Given the description of an element on the screen output the (x, y) to click on. 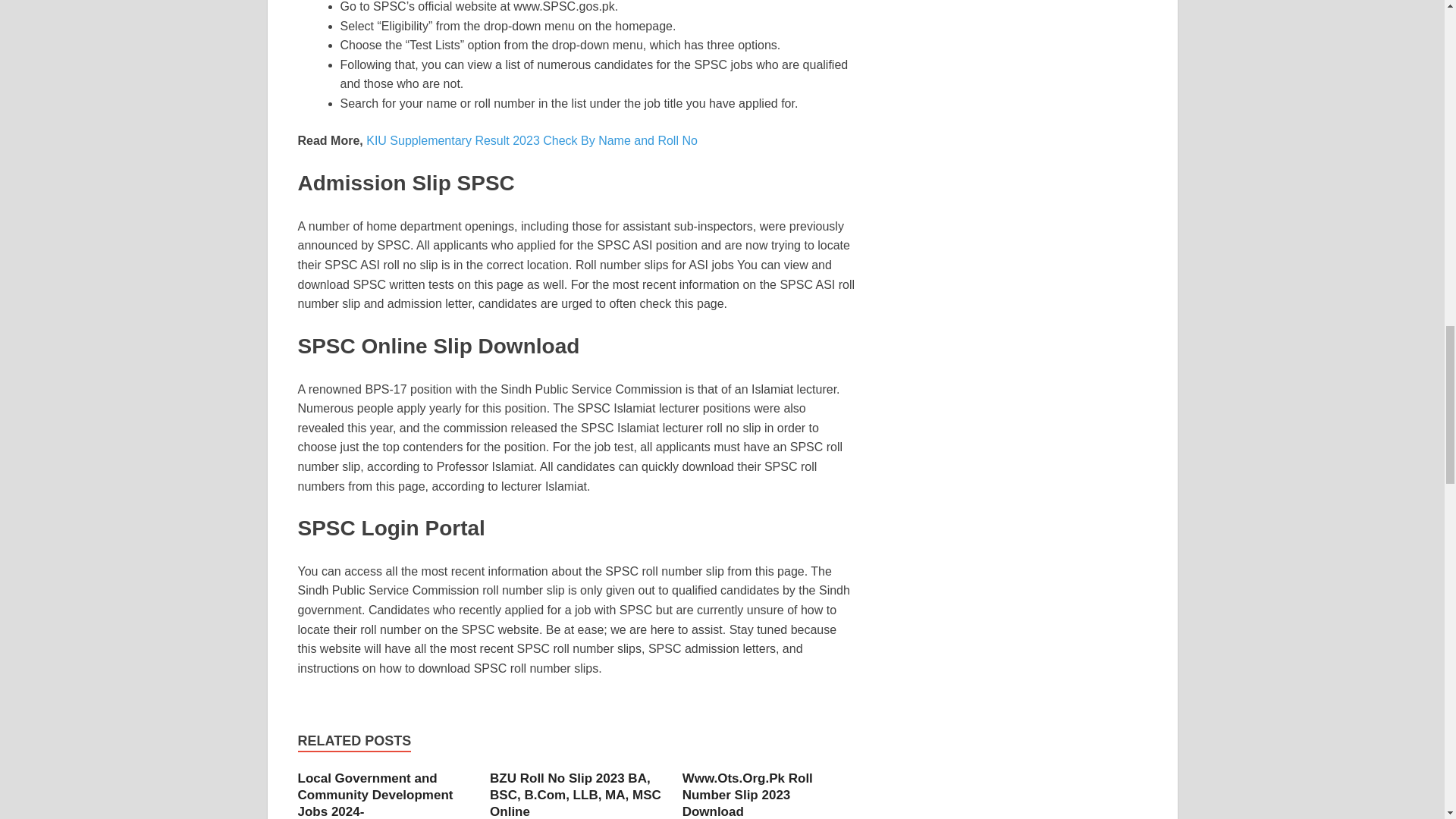
Www.Ots.Org.Pk Roll Number Slip 2023 Download (747, 795)
BZU Roll No Slip 2023 BA, BSC, B.Com, LLB, MA, MSC Online (575, 795)
BZU Roll No Slip 2023 BA, BSC, B.Com, LLB, MA, MSC Online (575, 795)
KIU Supplementary Result 2023 Check By Name and Roll No (531, 140)
Www.Ots.Org.Pk Roll Number Slip 2023 Download (747, 795)
